Given the description of an element on the screen output the (x, y) to click on. 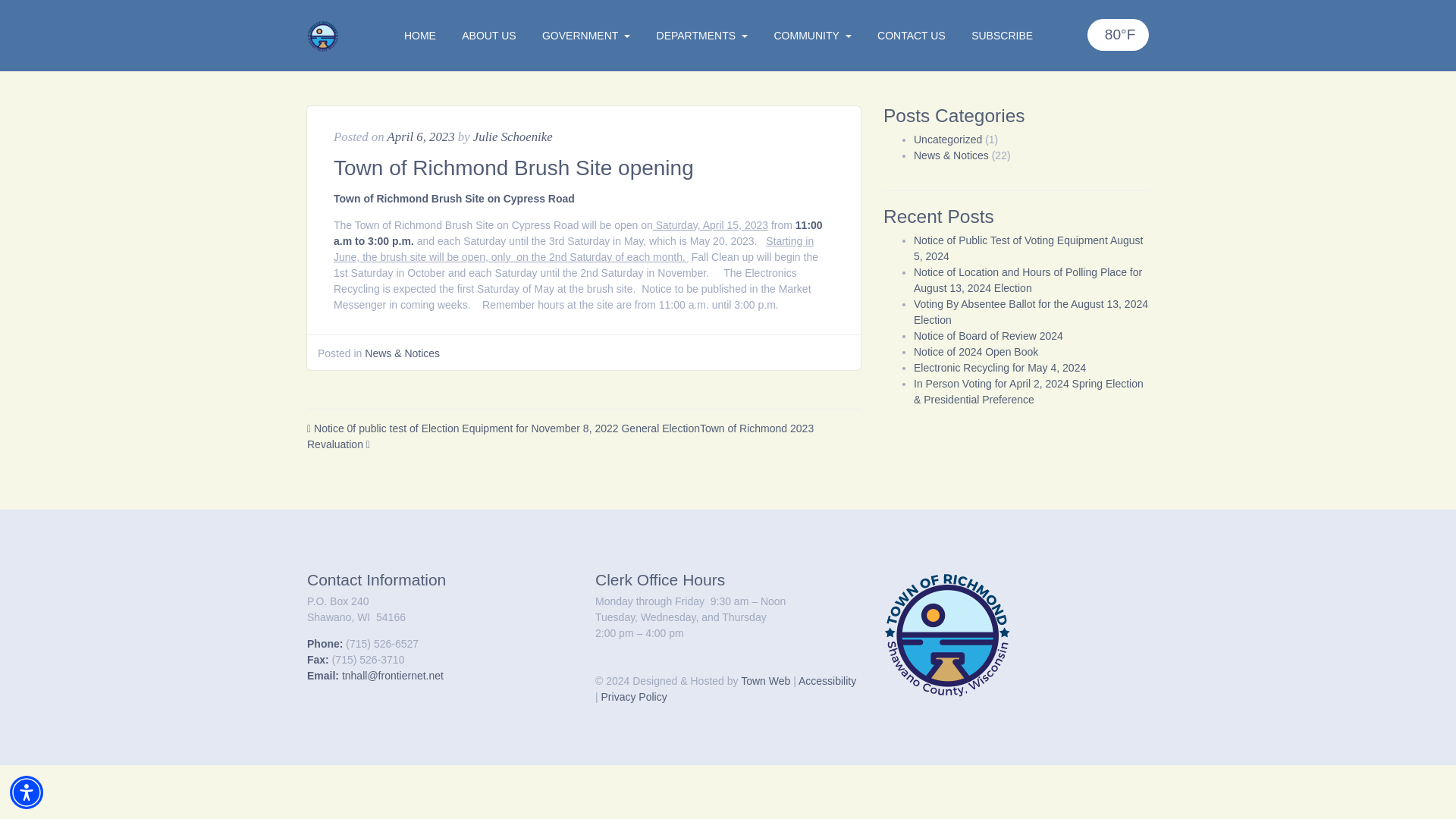
Home (419, 34)
SUBSCRIBE (1001, 34)
Town of Richmond 2023 Revaluation  (560, 436)
Government (586, 34)
CONTACT US (911, 34)
Julie Schoenike (513, 136)
GOVERNMENT (586, 34)
HOME (419, 34)
COMMUNITY (812, 34)
Departments (702, 34)
DEPARTMENTS (702, 34)
April 6, 2023 (420, 136)
ABOUT US (488, 34)
About Us (488, 34)
